Given the description of an element on the screen output the (x, y) to click on. 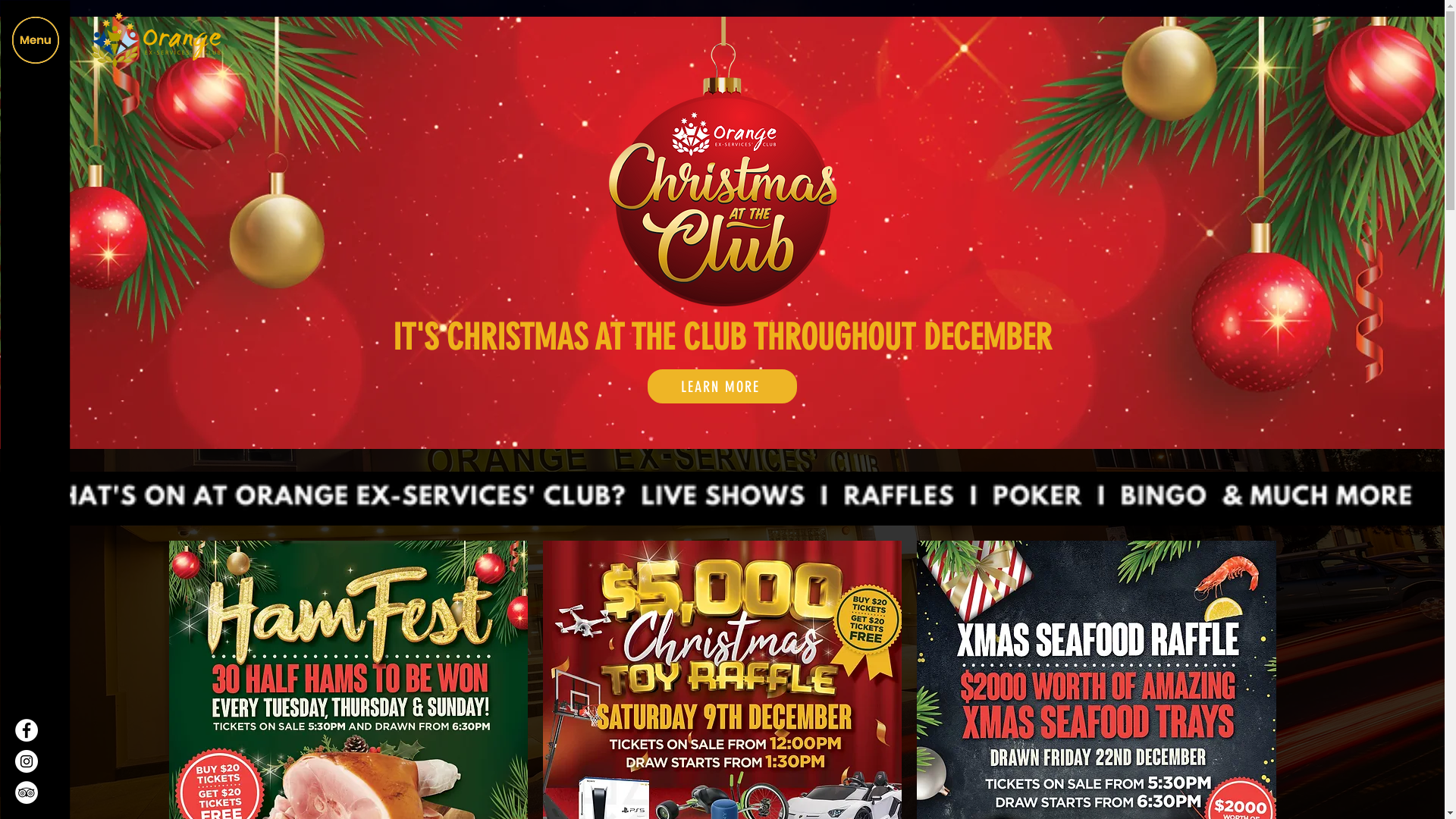
LEARN MORE Element type: text (722, 386)
